Given the description of an element on the screen output the (x, y) to click on. 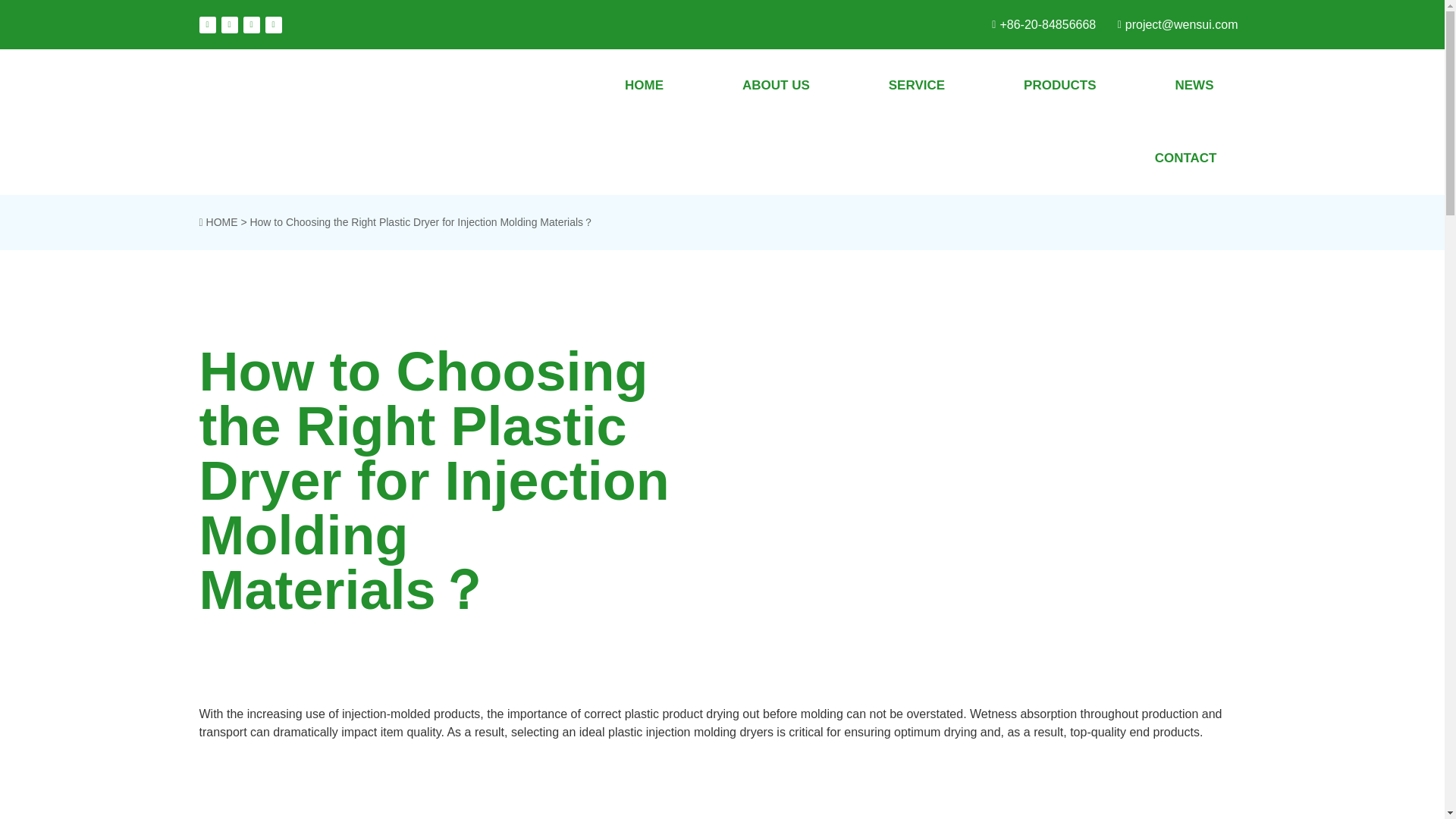
HOME (644, 85)
NEWS (1194, 85)
ABOUT US (775, 85)
SERVICE (916, 85)
HOME (222, 222)
PRODUCTS (1059, 85)
CONTACT (1185, 158)
